Given the description of an element on the screen output the (x, y) to click on. 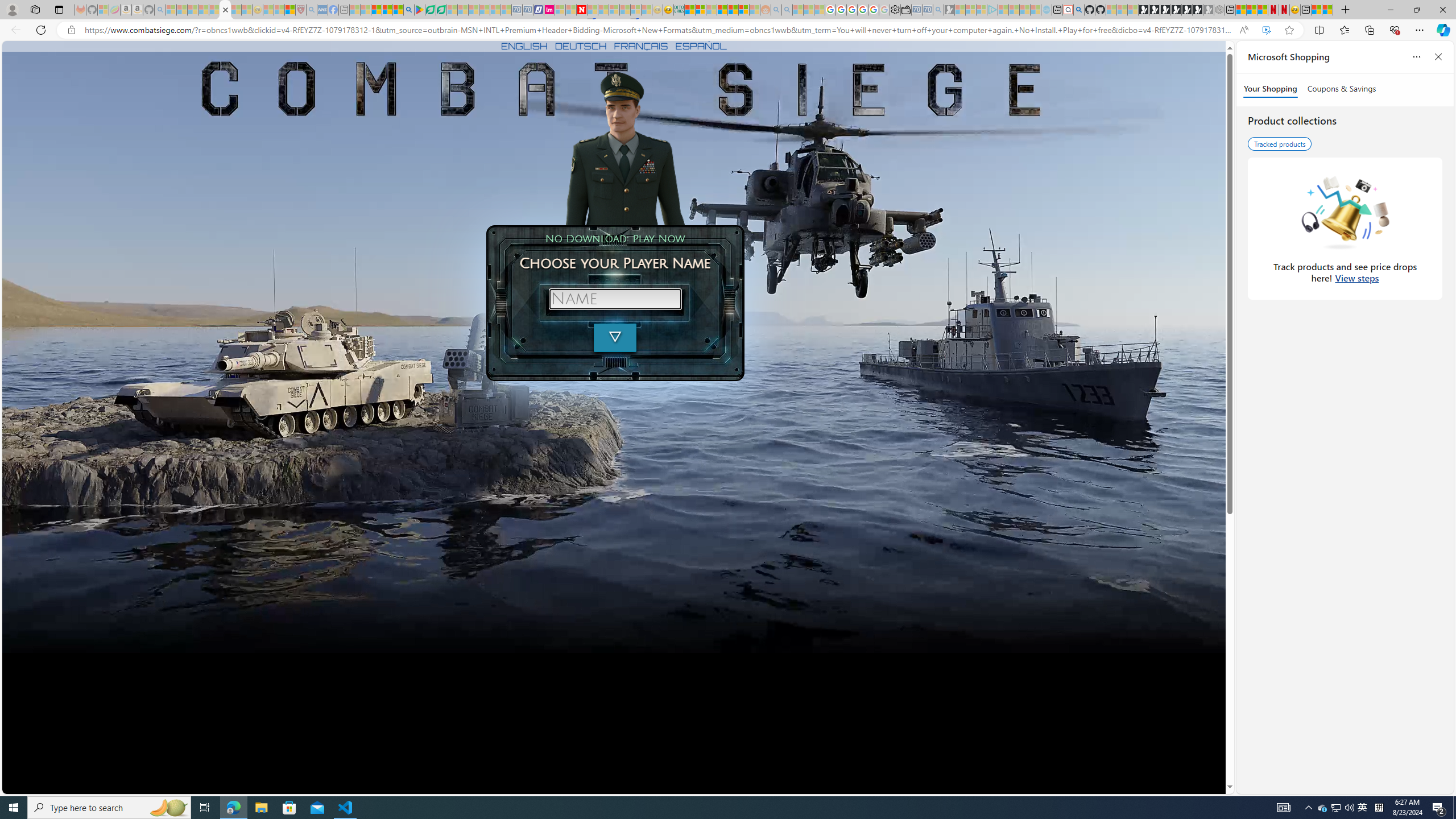
ENGLISH (523, 45)
Cheap Hotels - Save70.com - Sleeping (527, 9)
Local - MSN (289, 9)
Jobs - lastminute.com Investor Portal (548, 9)
14 Common Myths Debunked By Scientific Facts - Sleeping (602, 9)
DITOGAMES AG Imprint (678, 9)
